Given the description of an element on the screen output the (x, y) to click on. 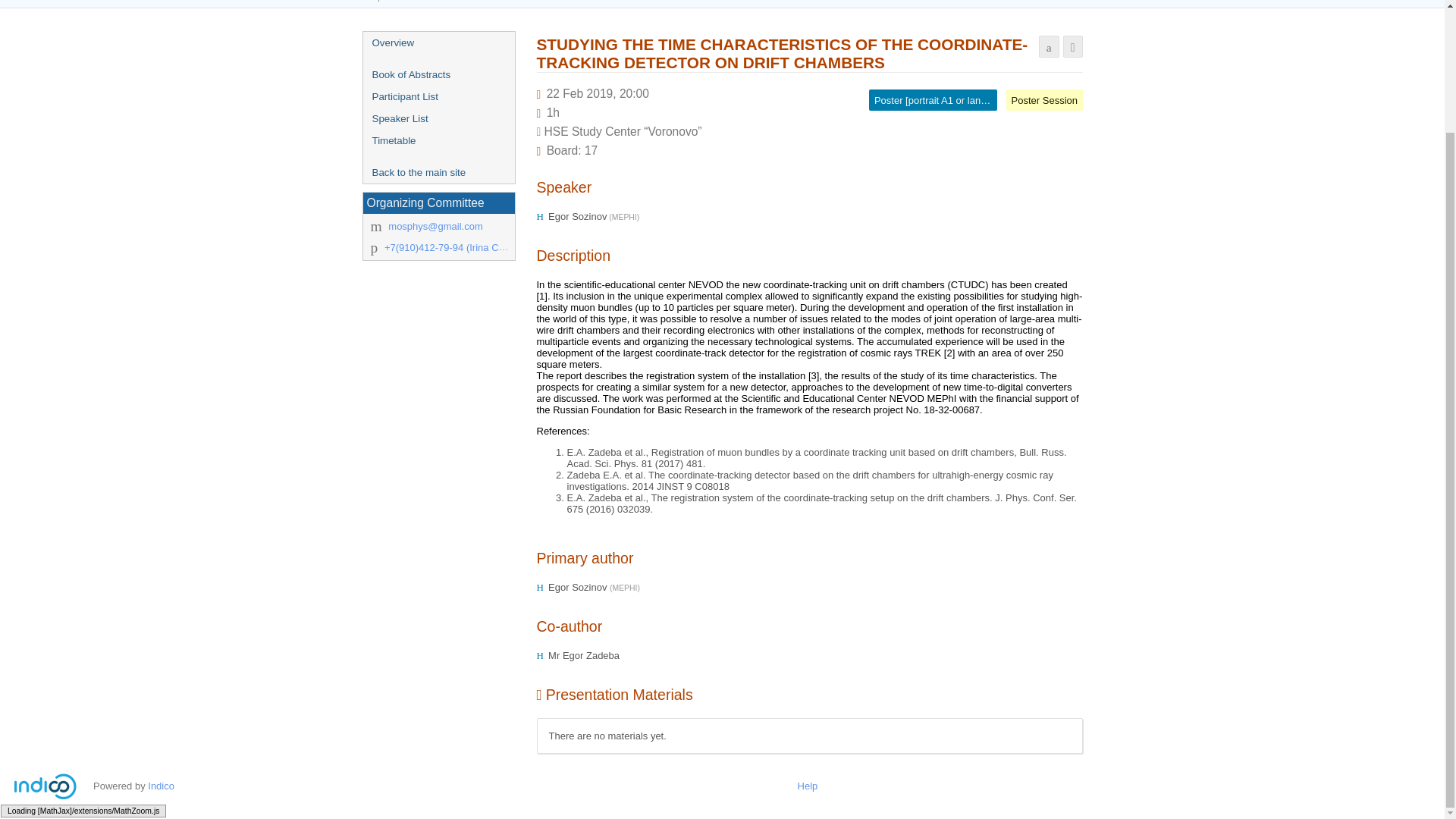
Book of Abstracts (437, 74)
Back to the main site (437, 172)
Poster Session (1044, 100)
Timetable (437, 140)
Duration (553, 112)
Speaker List (437, 118)
Overview (437, 42)
Participant List (437, 96)
